Given the description of an element on the screen output the (x, y) to click on. 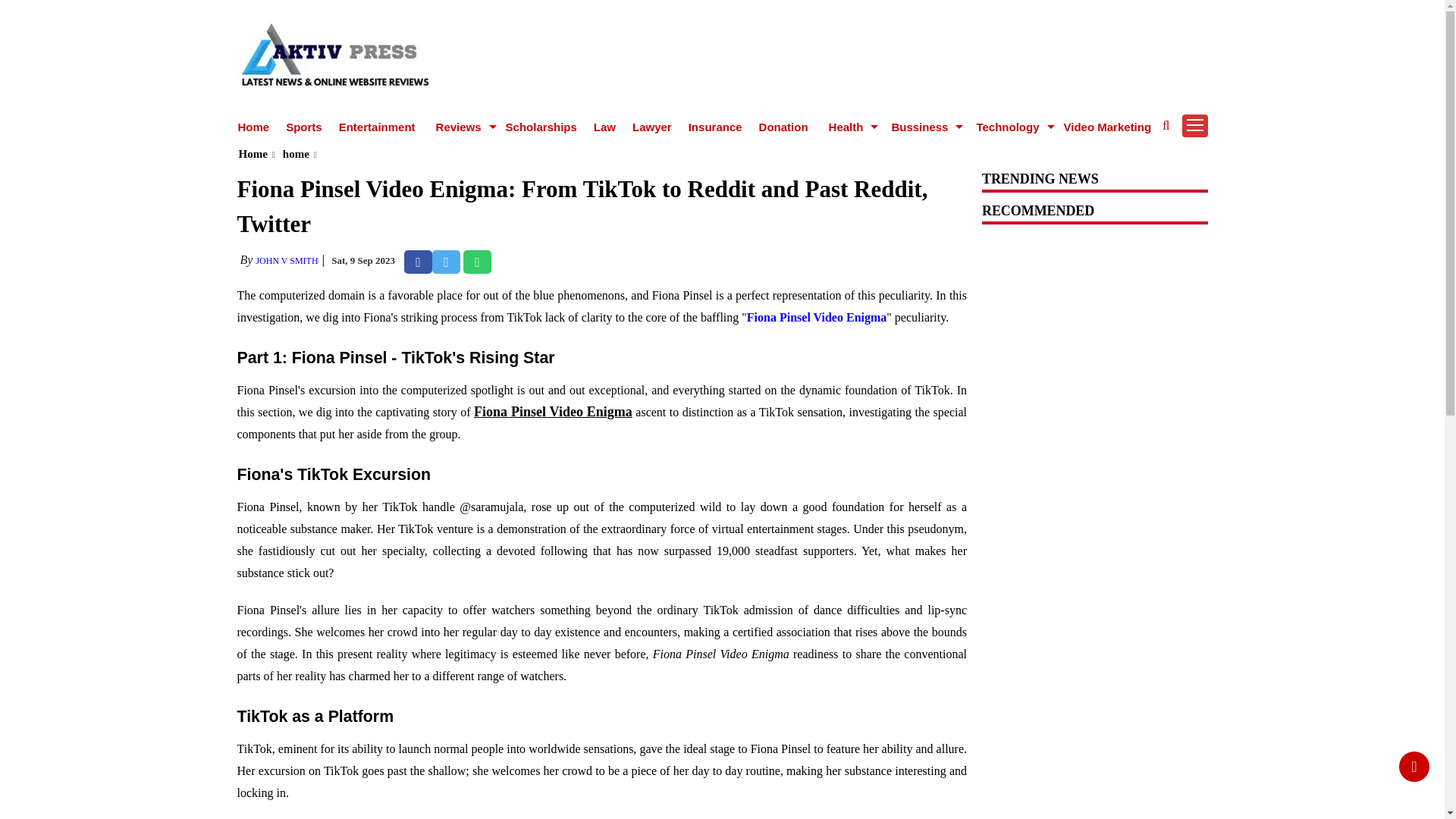
Law (604, 126)
Sports (303, 126)
Health (847, 126)
Scholarships (540, 126)
Reviews (460, 126)
Home (253, 126)
Donation (783, 126)
Video Marketing (1107, 126)
Technology (1009, 126)
Lawyer (651, 126)
